Given the description of an element on the screen output the (x, y) to click on. 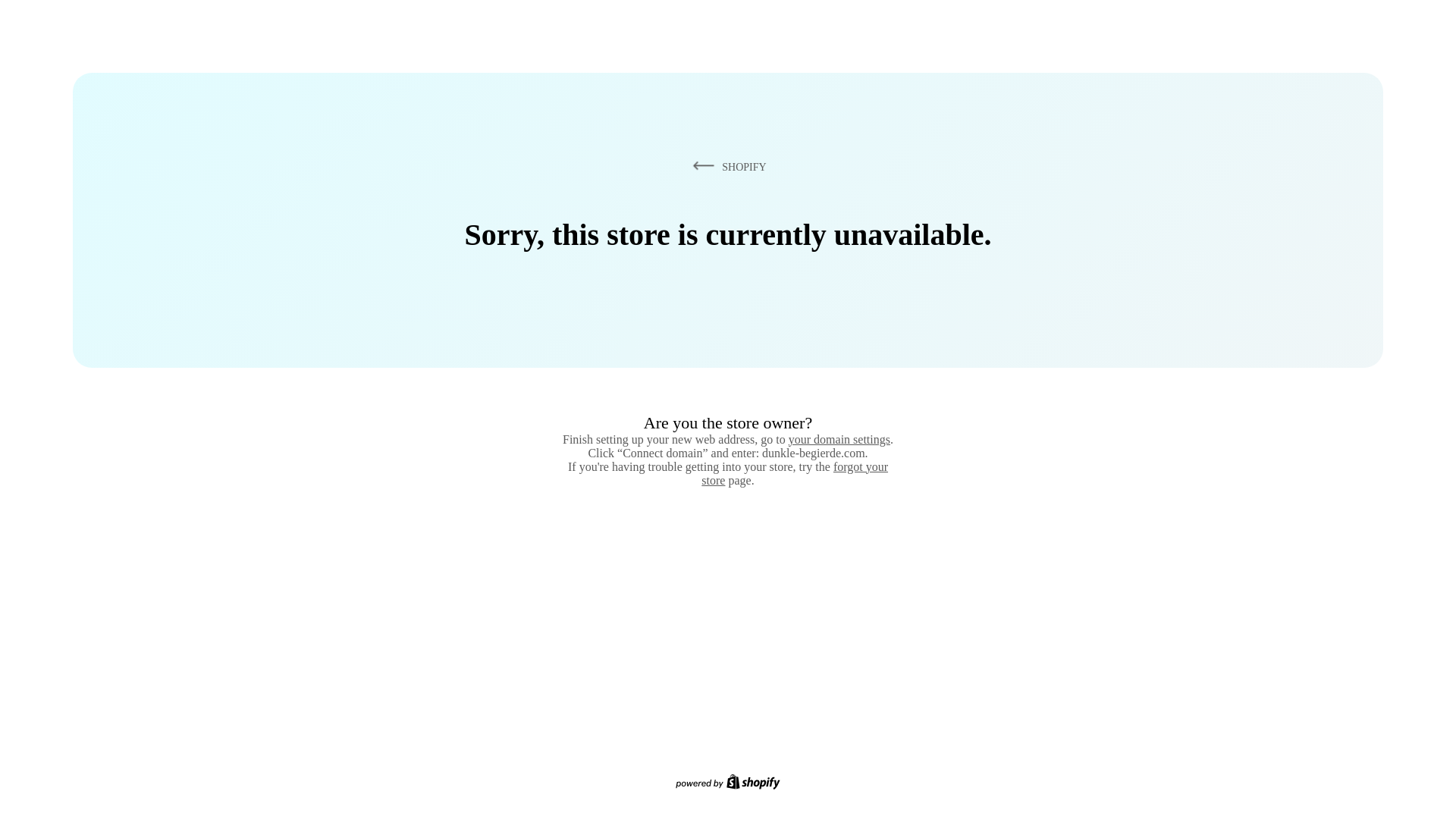
your domain settings (839, 439)
SHOPIFY (726, 166)
forgot your store (794, 473)
